Given the description of an element on the screen output the (x, y) to click on. 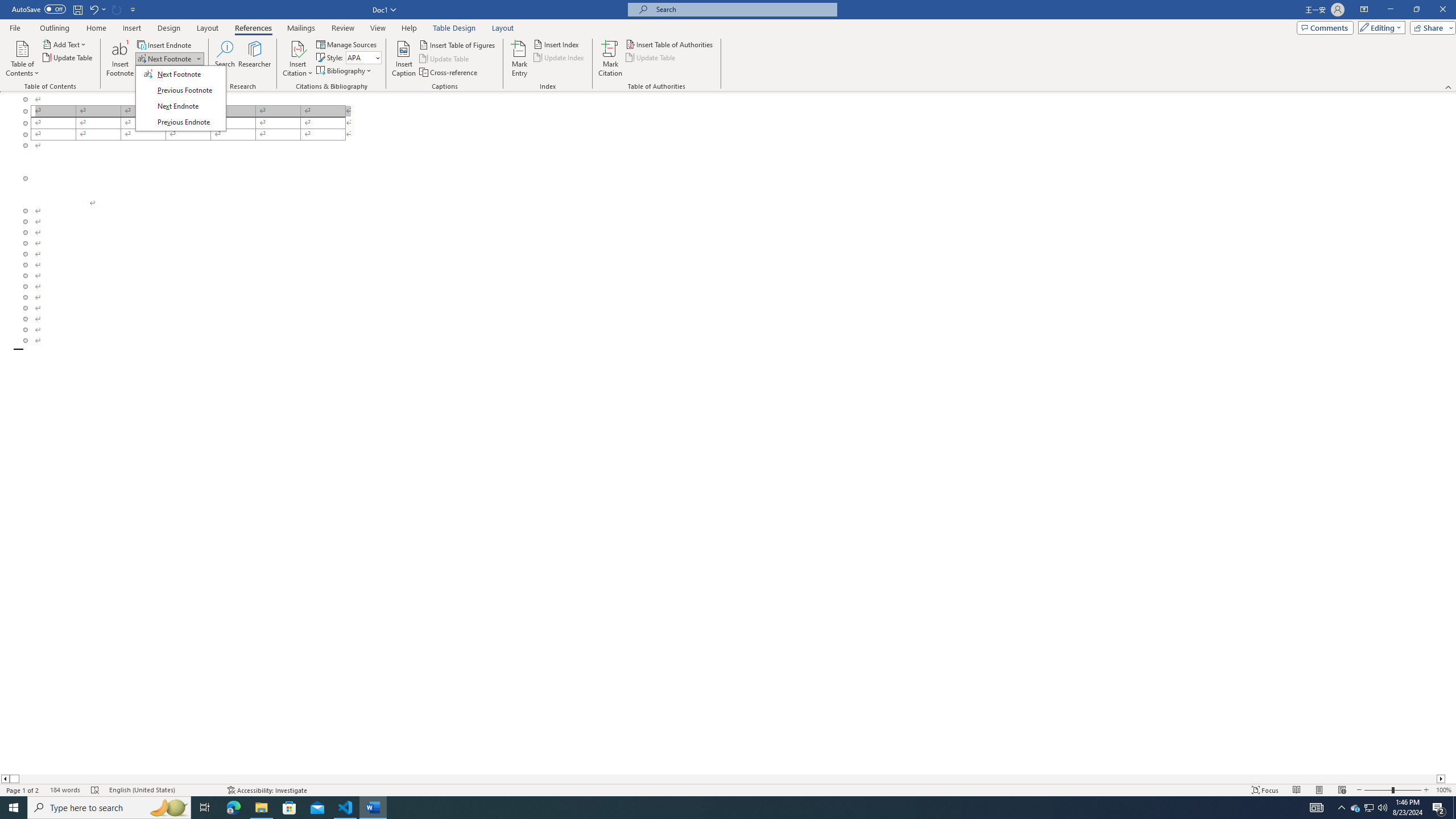
Insert Caption... (403, 58)
Manage Sources... (347, 44)
Microsoft Store (289, 807)
Start (13, 807)
&Next Footnote (180, 98)
